Given the description of an element on the screen output the (x, y) to click on. 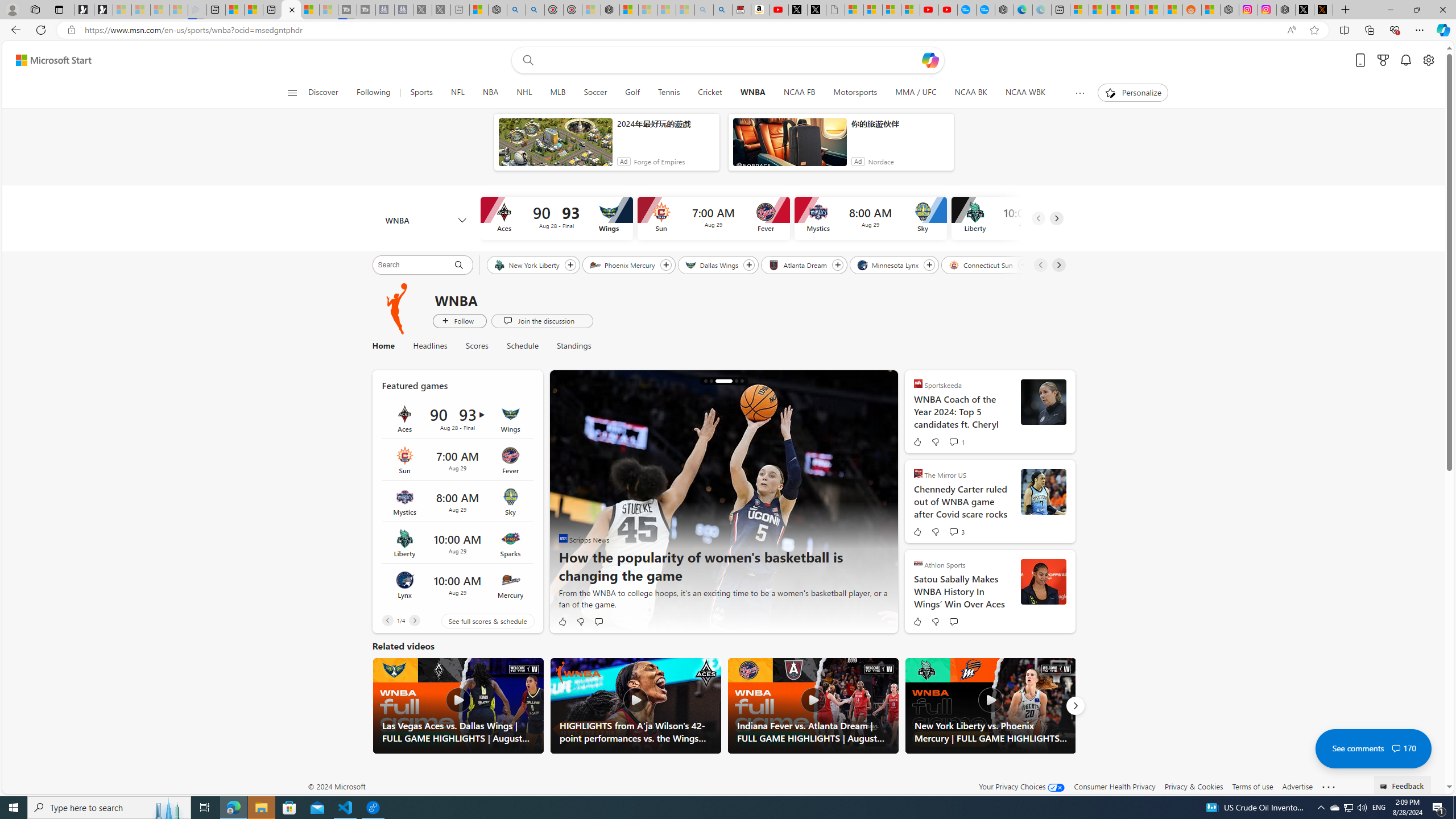
NCAA FB (799, 92)
Lynx vs Mercury Time 10:00 AM Date Aug 29 (456, 584)
usatsi_21497924 (1042, 581)
Tennis (668, 92)
View comments 3 Comment (956, 531)
WNBA (397, 308)
View comments 1 Comment (956, 441)
Sun vs Fever Time 7:00 AM Date Aug 29 (456, 459)
Privacy & Cookies (1193, 785)
Minnesota Lynx (888, 264)
